Given the description of an element on the screen output the (x, y) to click on. 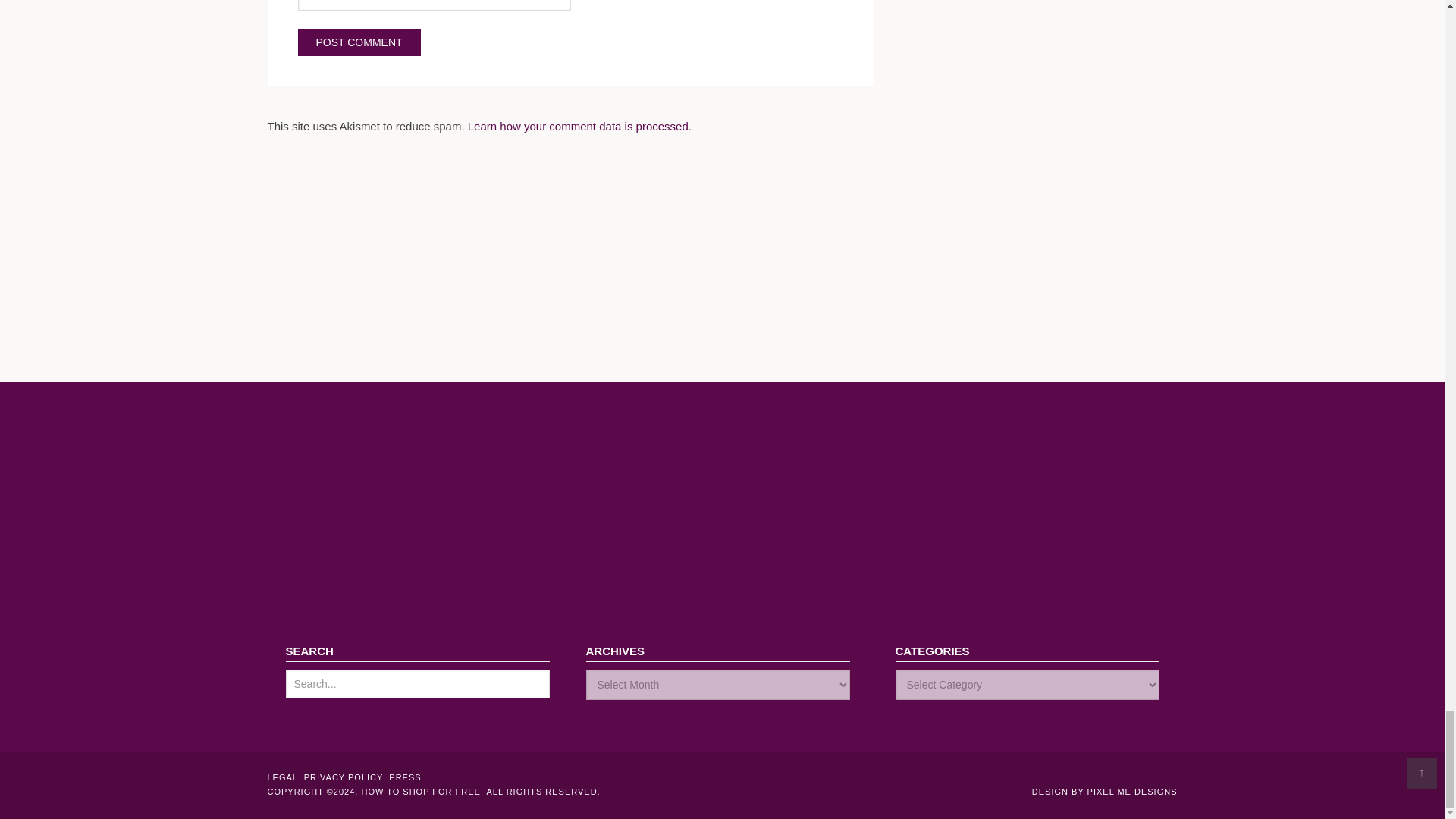
Post Comment (358, 42)
